Given the description of an element on the screen output the (x, y) to click on. 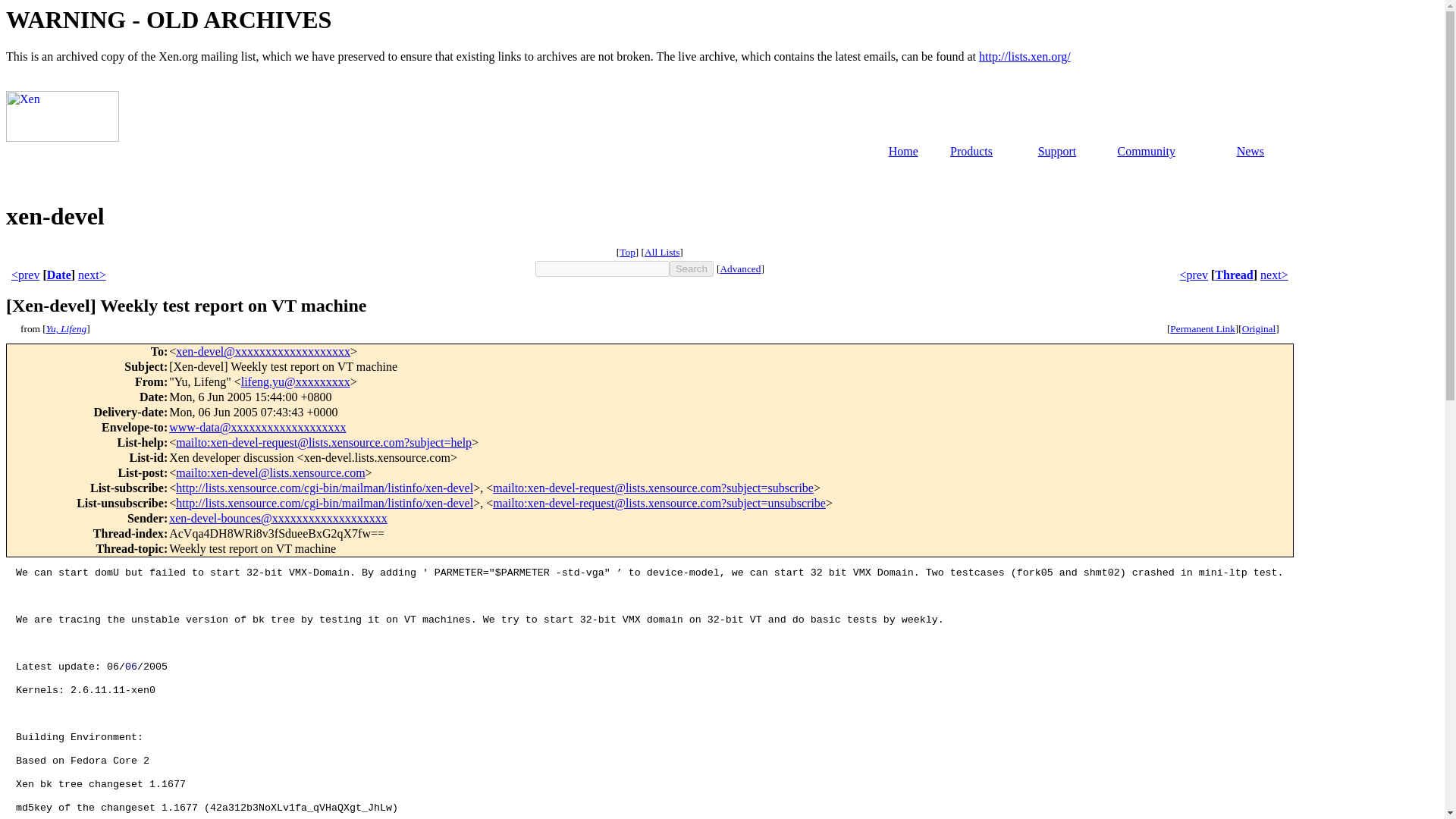
Search (691, 268)
Yu, Lifeng (66, 328)
Thread (1233, 274)
Community (1145, 151)
Advanced (739, 268)
Search (691, 268)
Top (627, 251)
Date (58, 274)
All Lists (662, 251)
Original (1258, 328)
Products (971, 151)
News (1249, 151)
Home (903, 151)
Support (1057, 151)
Permanent Link (1202, 328)
